Given the description of an element on the screen output the (x, y) to click on. 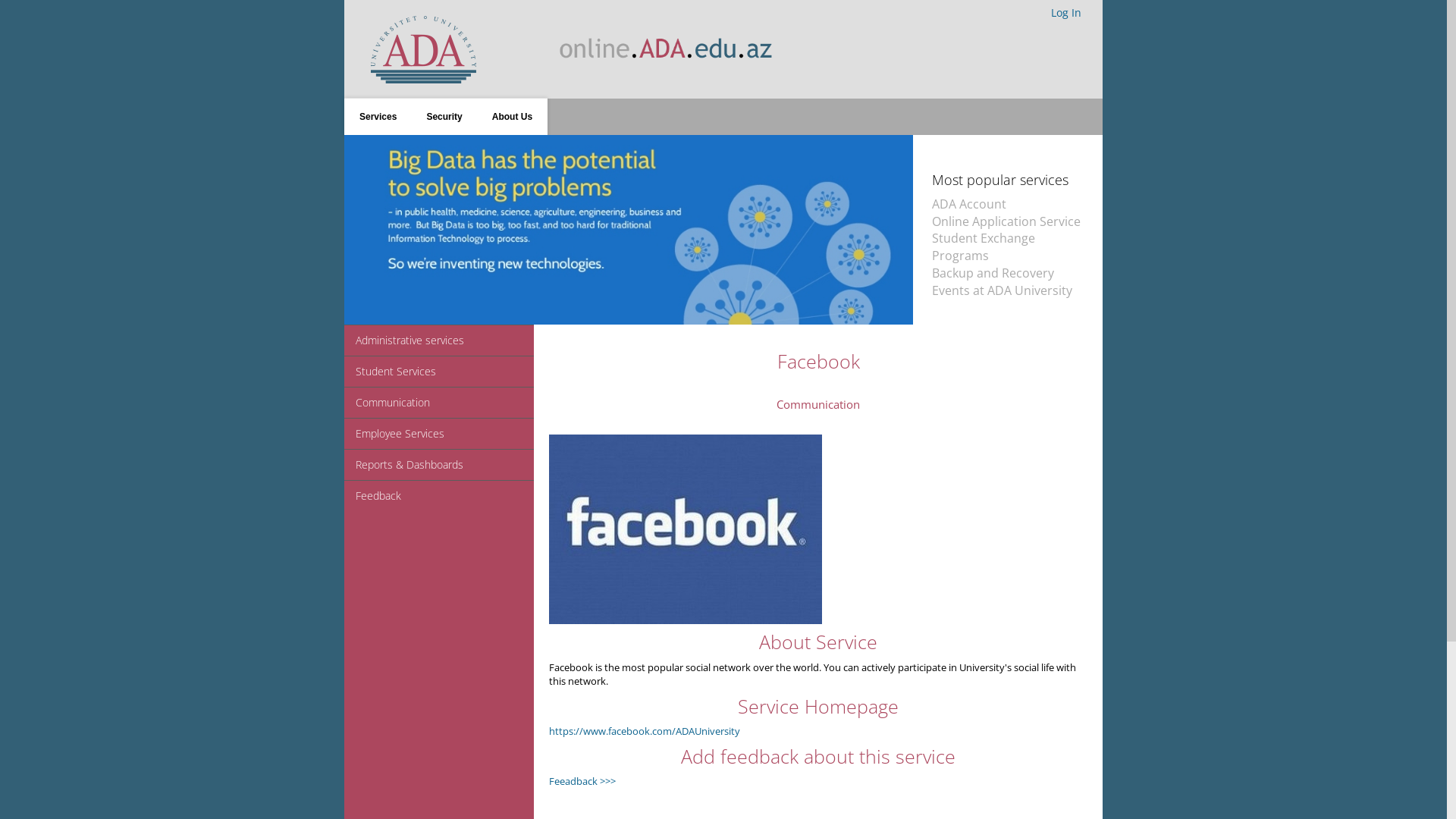
Log In Element type: text (1066, 12)
Administrative services Element type: text (438, 339)
Student Exchange Programs Element type: text (983, 246)
Student Services Element type: text (438, 370)
ADA Account Element type: text (968, 203)
Communication Element type: text (438, 401)
Events at ADA University Element type: text (1001, 290)
https://www.facebook.com/ADAUniversity Element type: text (644, 730)
Feeadback >>> Element type: text (582, 780)
Online Application Service Element type: text (1005, 221)
Reports & Dashboards Element type: text (438, 464)
Backup and Recovery Element type: text (992, 272)
Employee Services Element type: text (438, 432)
Feedback Element type: text (438, 495)
